Given the description of an element on the screen output the (x, y) to click on. 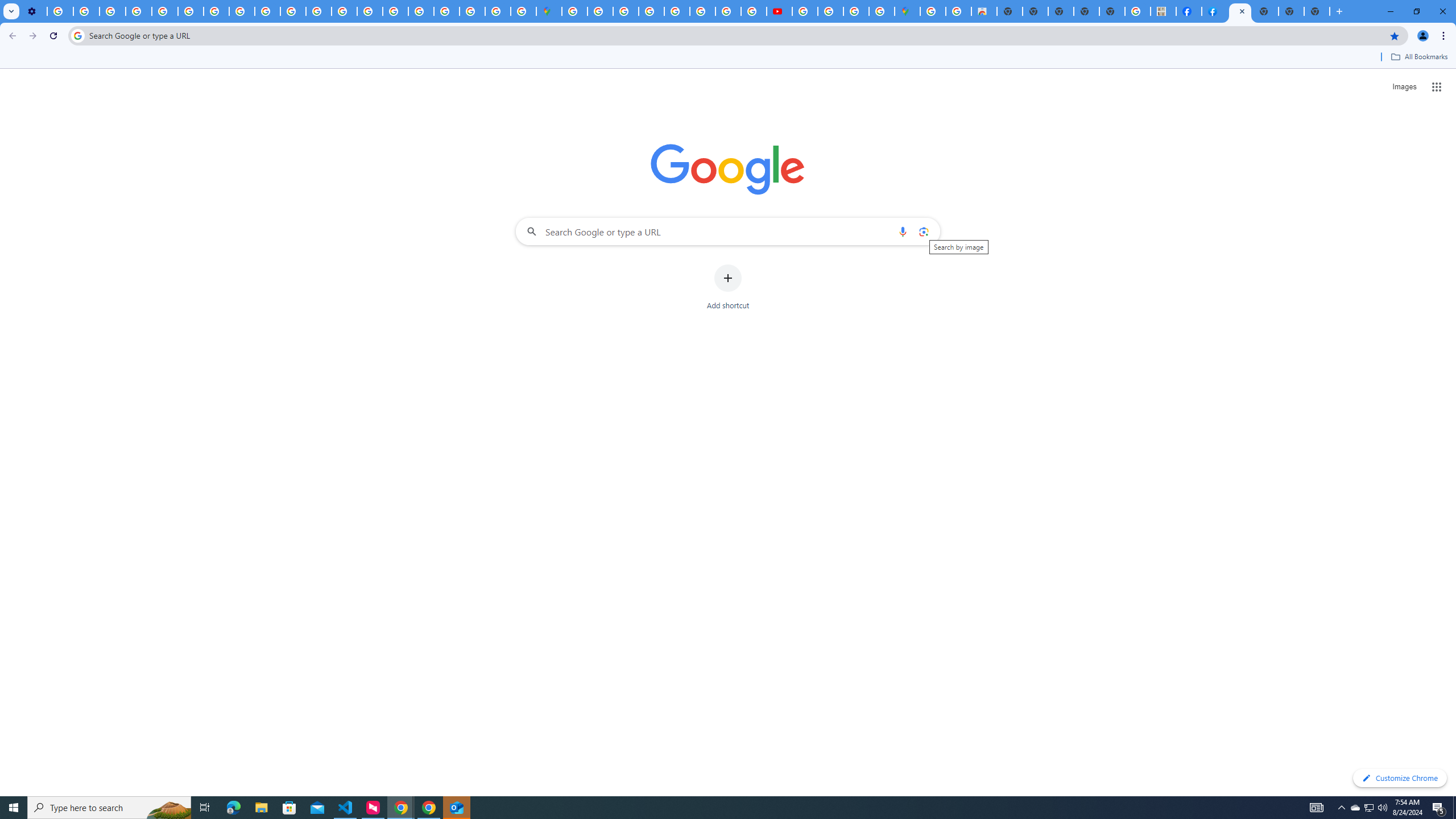
Privacy Help Center - Policies Help (165, 11)
Terms and Conditions (676, 11)
Sign Up for Facebook (1213, 11)
